Given the description of an element on the screen output the (x, y) to click on. 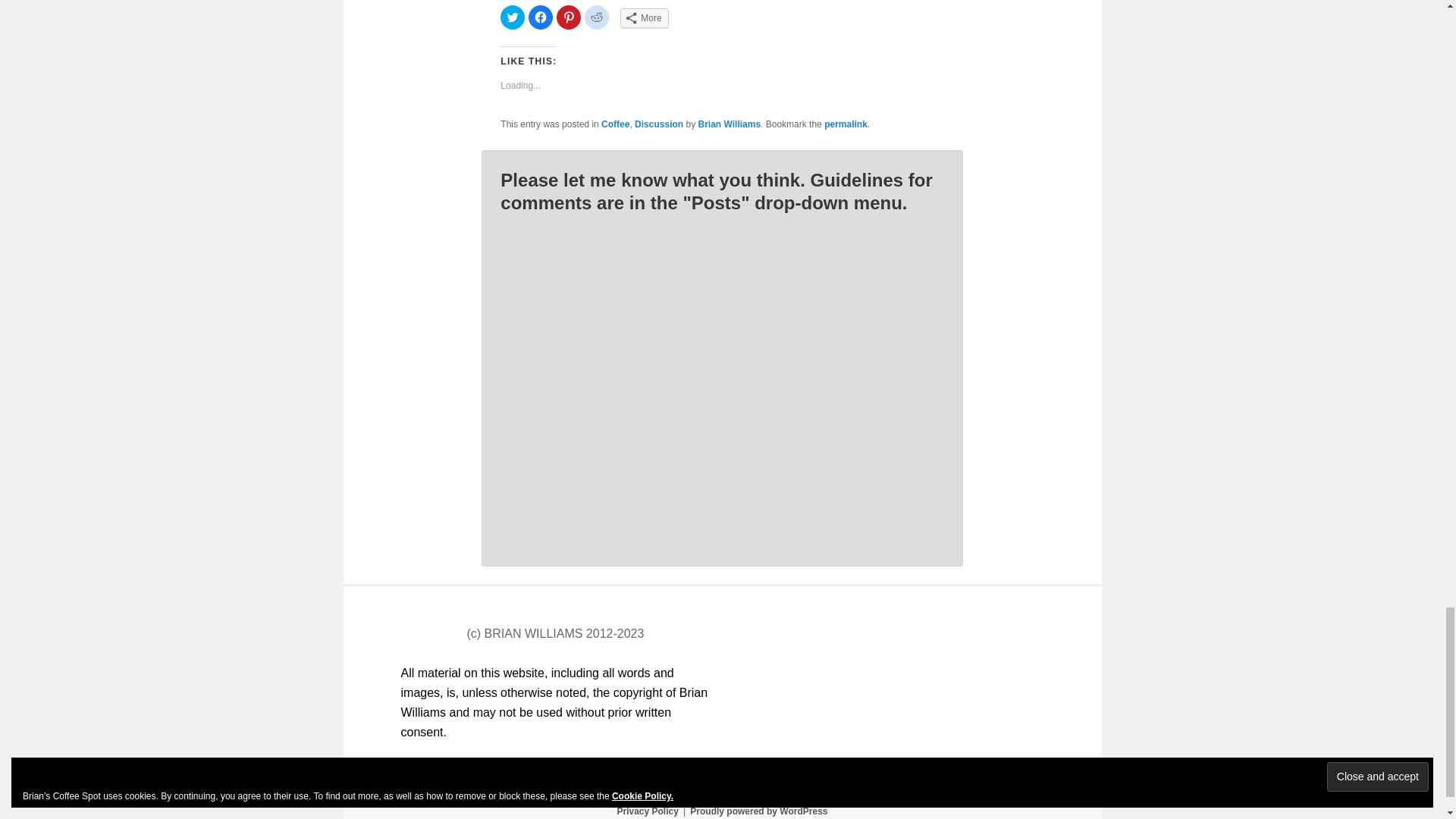
Click to share on Pinterest (568, 16)
Click to share on Facebook (540, 16)
Click to share on Twitter (512, 16)
